Given the description of an element on the screen output the (x, y) to click on. 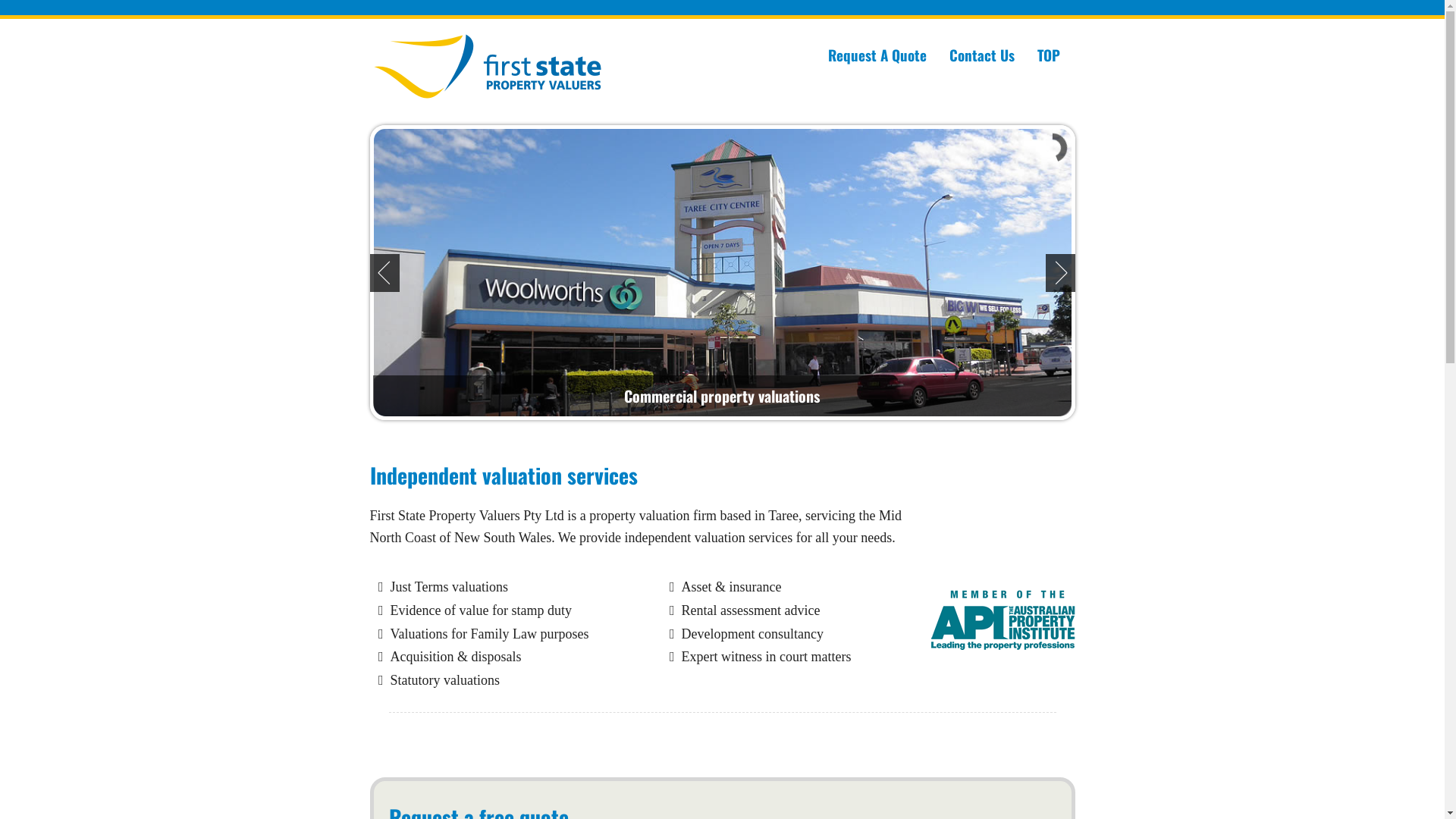
TOP Element type: text (1047, 54)
Contact Us Element type: text (981, 54)
  Element type: text (869, 656)
Request A Quote Element type: text (876, 54)
